Given the description of an element on the screen output the (x, y) to click on. 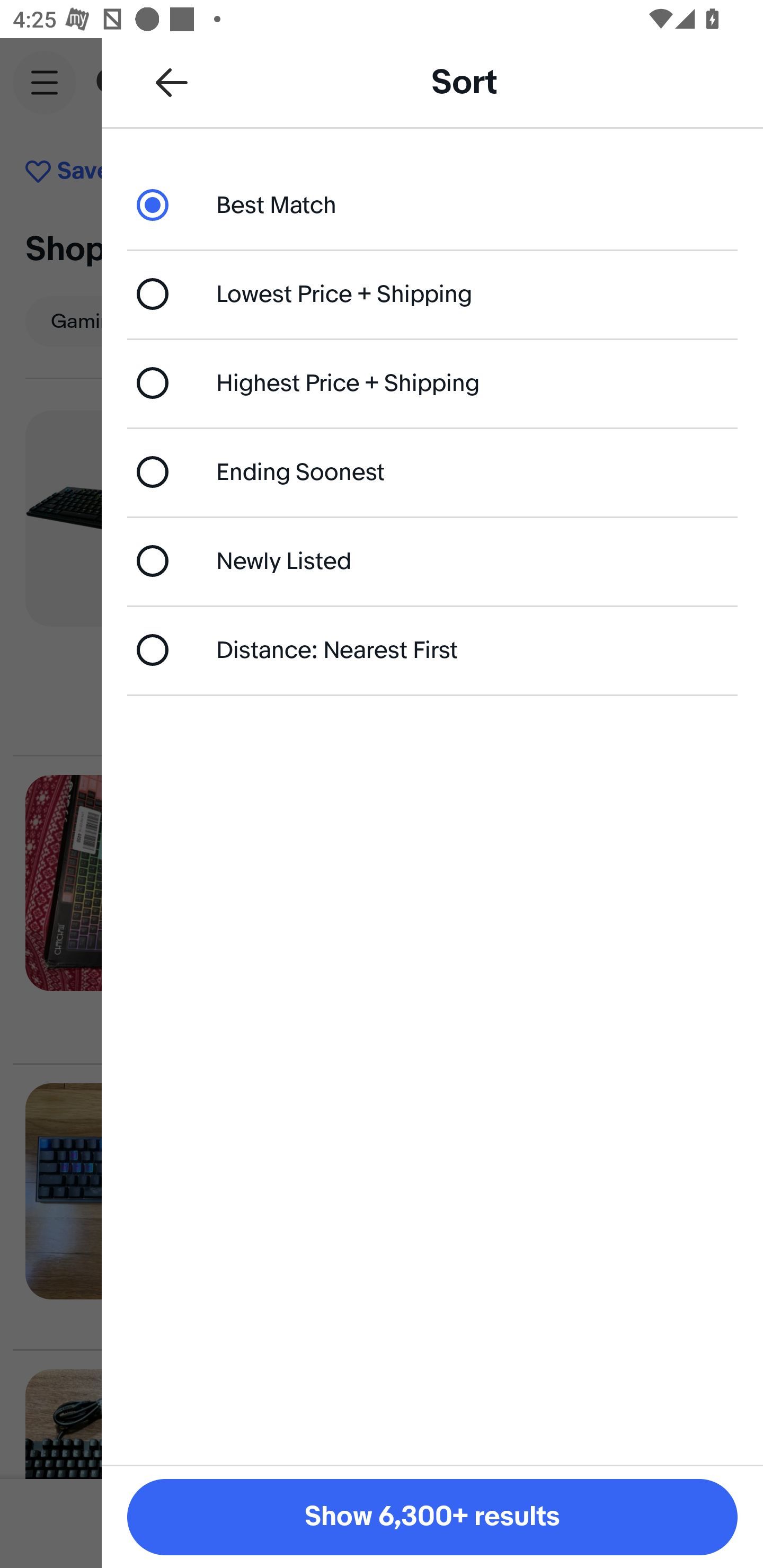
Back to all refinements (171, 81)
Best Match - currently selected Best Match (432, 204)
Lowest Price + Shipping (432, 293)
Highest Price + Shipping (432, 383)
Ending Soonest (432, 471)
Newly Listed (432, 560)
Distance: Nearest First (432, 649)
Show 6,300+ results (432, 1516)
